Given the description of an element on the screen output the (x, y) to click on. 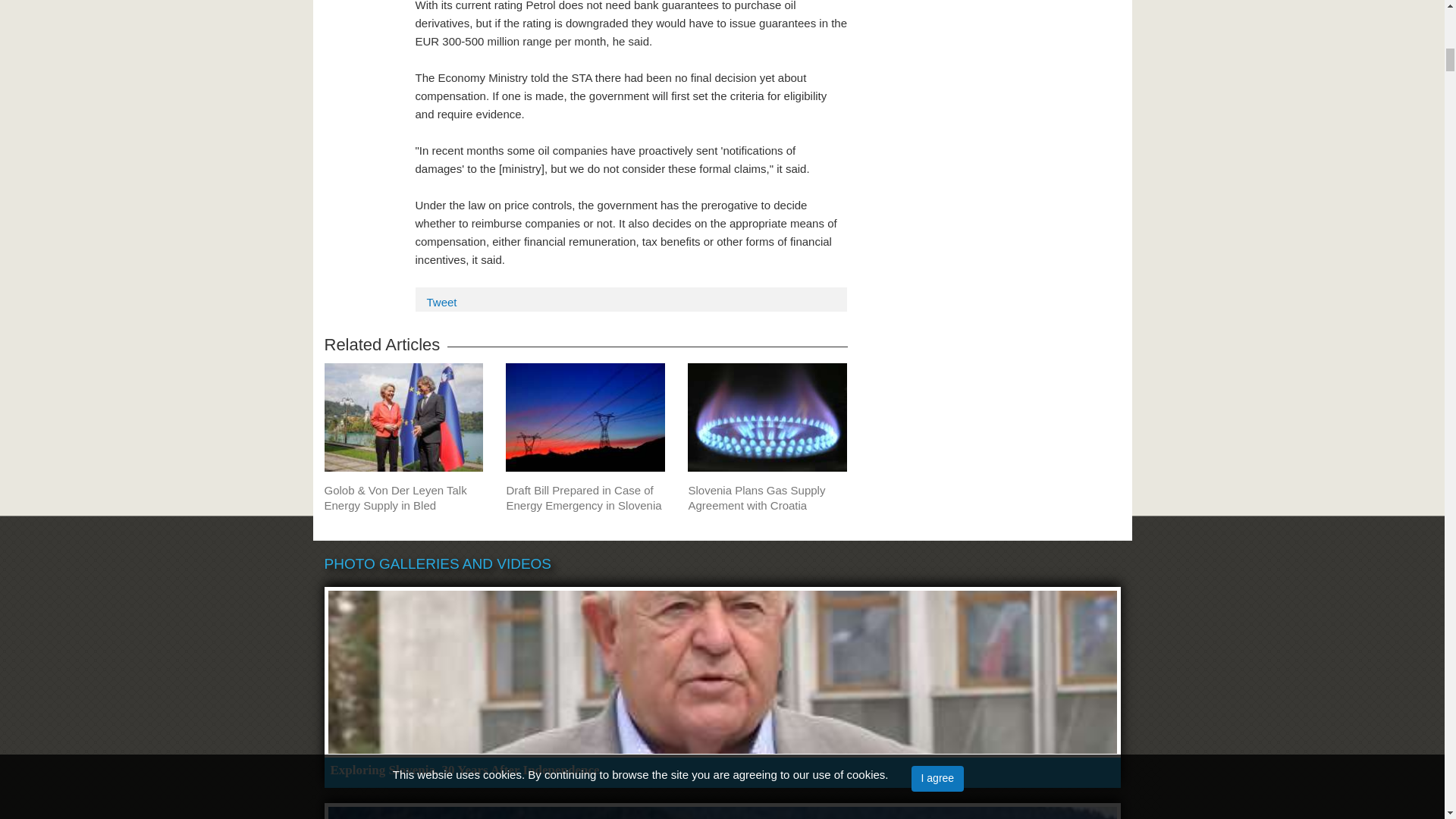
Tweet (441, 301)
Draft Bill Prepared in Case of Energy Emergency in Slovenia (585, 498)
Slovenia Plans Gas Supply Agreement with Croatia (767, 498)
